Given the description of an element on the screen output the (x, y) to click on. 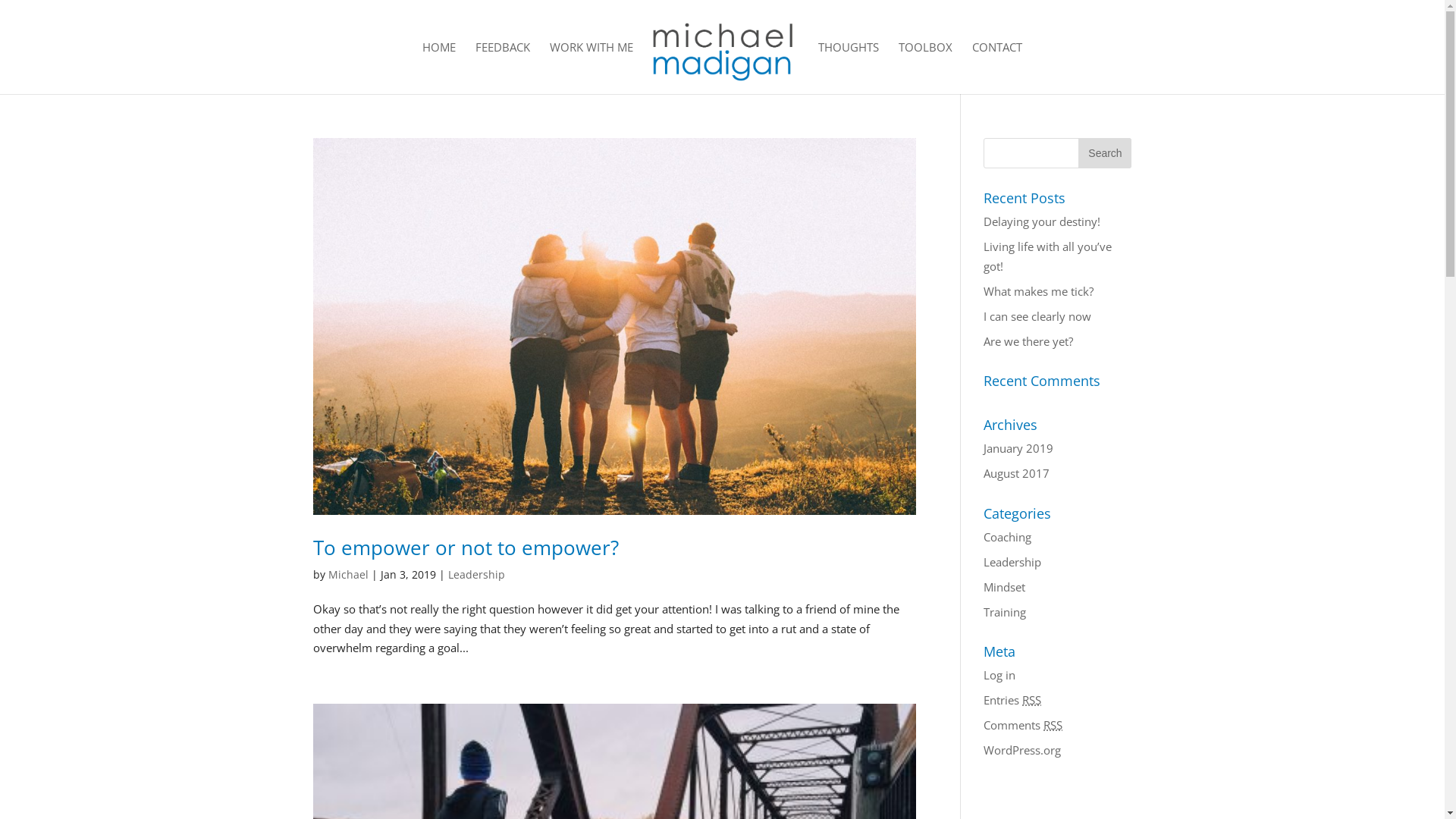
Comments RSS Element type: text (1022, 724)
TOOLBOX Element type: text (925, 67)
Michael Element type: text (347, 574)
Training Element type: text (1004, 610)
I can see clearly now Element type: text (1037, 315)
Are we there yet? Element type: text (1028, 340)
To empower or not to empower? Element type: text (465, 547)
Coaching Element type: text (1007, 536)
August 2017 Element type: text (1016, 472)
CONTACT Element type: text (997, 67)
THOUGHTS Element type: text (848, 67)
Search Element type: text (1104, 153)
January 2019 Element type: text (1018, 447)
Delaying your destiny! Element type: text (1041, 221)
Leadership Element type: text (475, 574)
FEEDBACK Element type: text (502, 67)
Log in Element type: text (999, 674)
WORK WITH ME Element type: text (591, 67)
HOME Element type: text (438, 67)
Leadership Element type: text (1012, 560)
Mindset Element type: text (1004, 586)
WordPress.org Element type: text (1021, 749)
Entries RSS Element type: text (1012, 699)
What makes me tick? Element type: text (1038, 290)
